Given the description of an element on the screen output the (x, y) to click on. 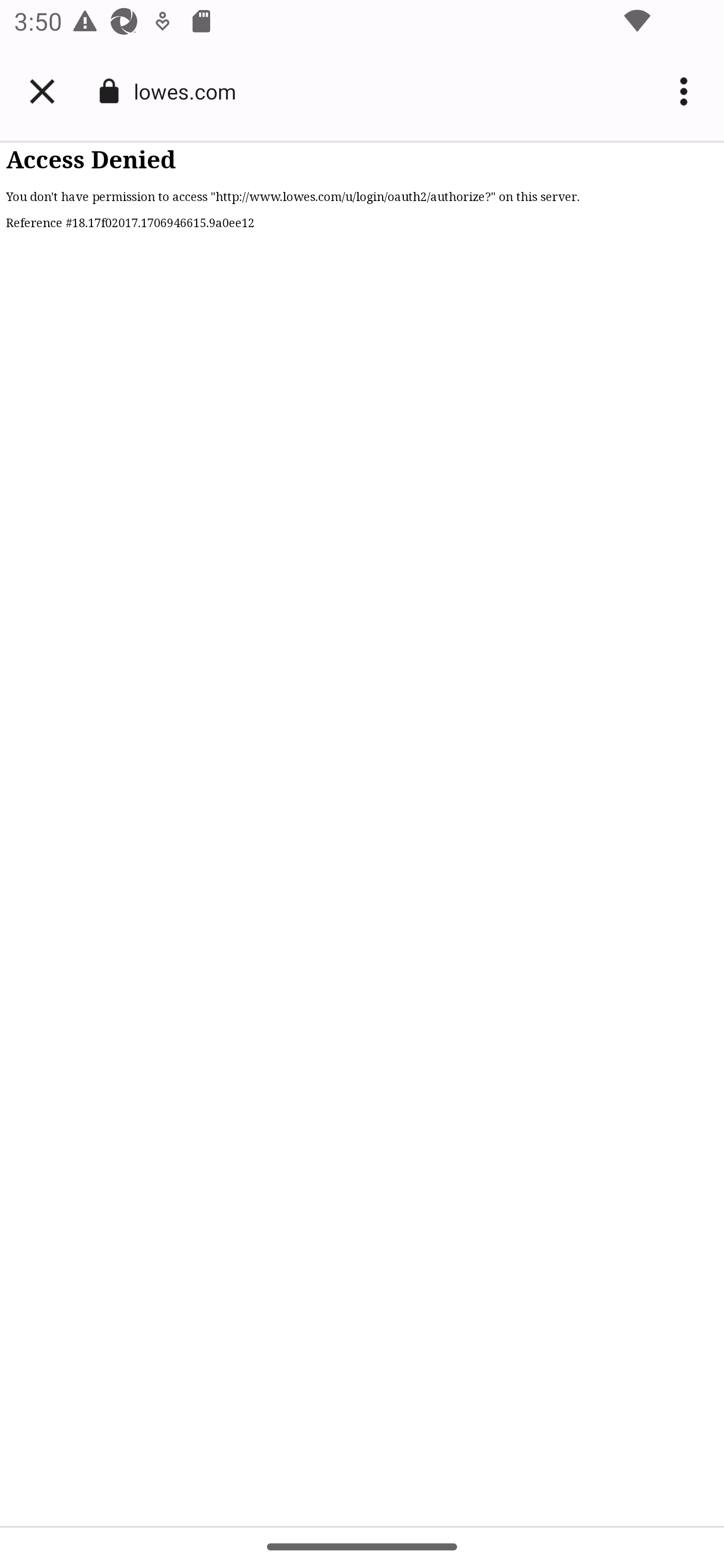
Close tab (42, 91)
More options (687, 91)
Connection is secure (108, 91)
lowes.com (191, 90)
